Given the description of an element on the screen output the (x, y) to click on. 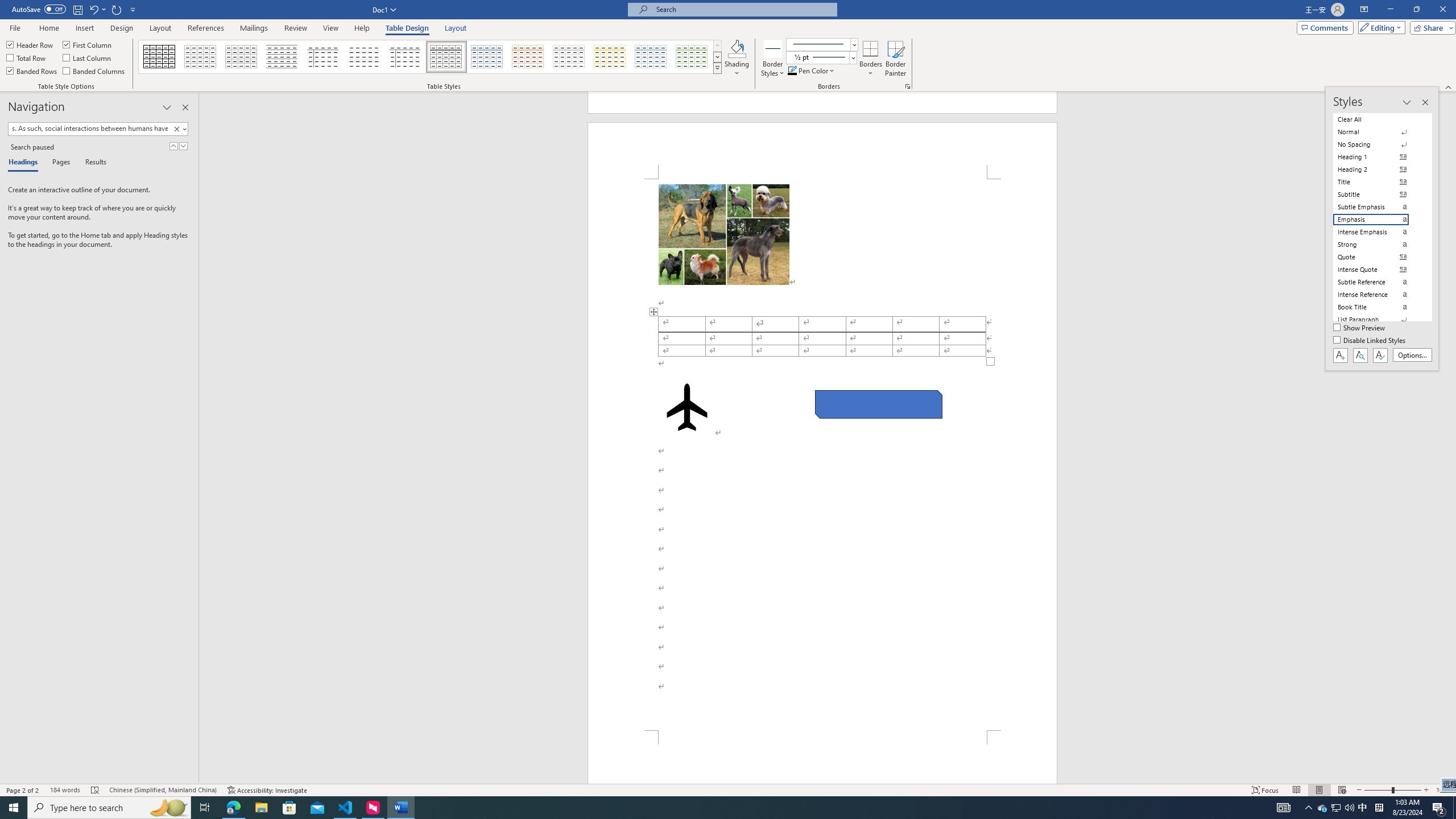
Table Design (407, 28)
Table Grid (159, 56)
Grid Table 1 Light - Accent 3 (568, 56)
Normal (1377, 131)
Grid Table 1 Light (446, 56)
Grid Table 1 Light - Accent 2 (528, 56)
Previous Result (173, 145)
Strong (1377, 244)
Grid Table 1 Light - Accent 4 (609, 56)
Subtitle (1377, 194)
Intense Quote (1377, 269)
Word Count 184 words (64, 790)
